Given the description of an element on the screen output the (x, y) to click on. 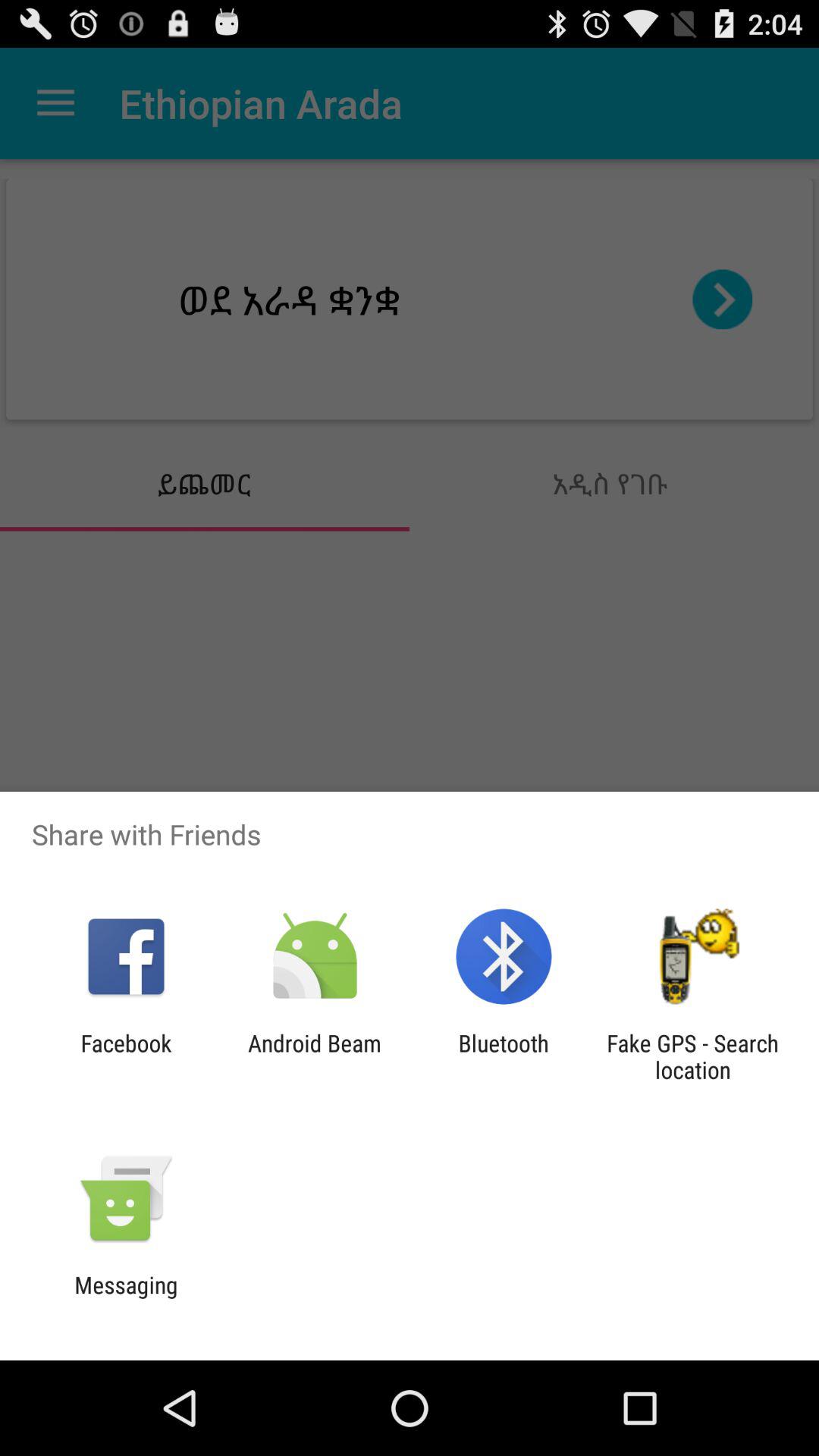
jump to bluetooth app (503, 1056)
